Given the description of an element on the screen output the (x, y) to click on. 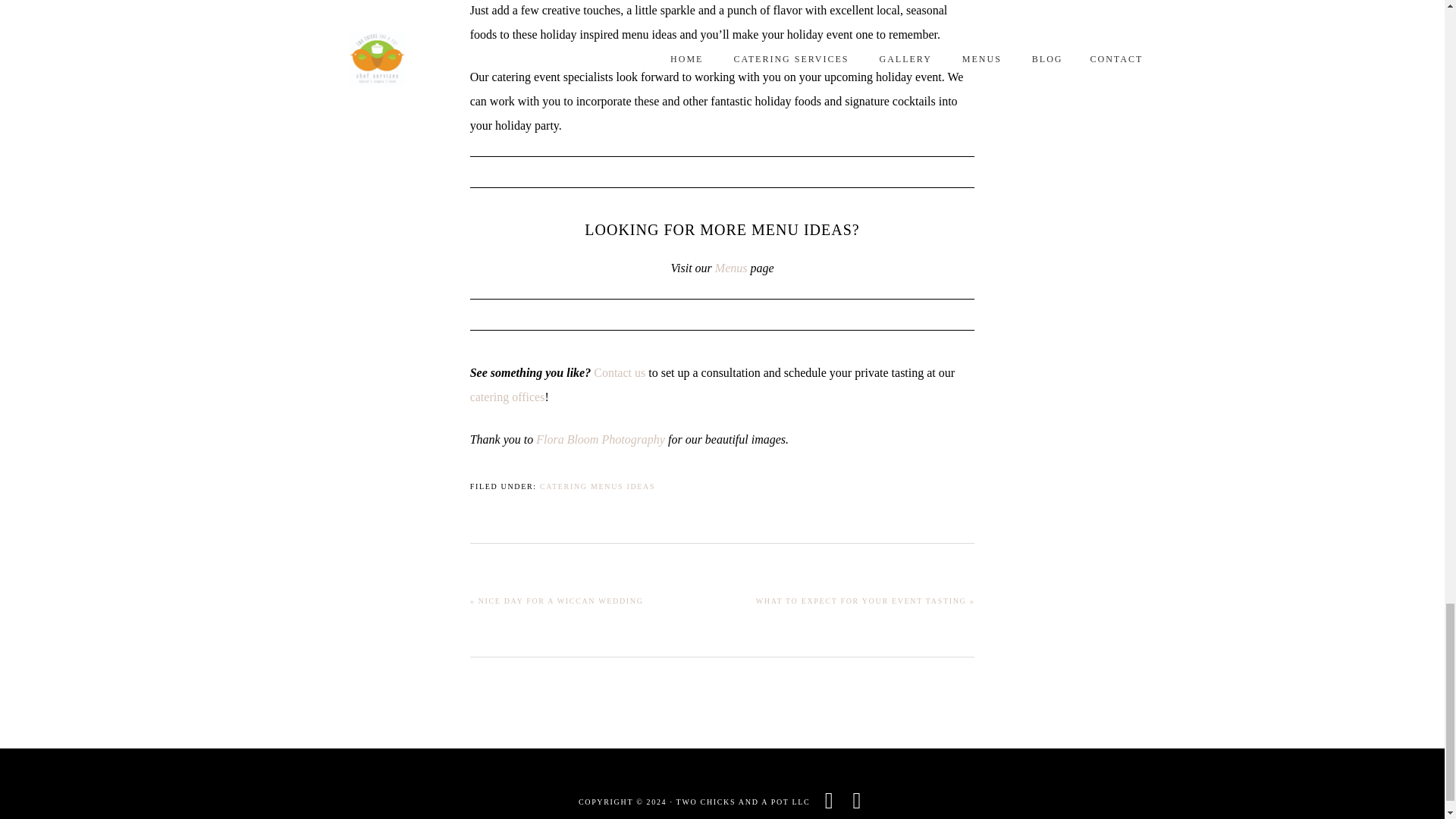
Contact us (619, 372)
Menus (731, 267)
catering offices (507, 396)
CATERING MENUS IDEAS (597, 486)
Flora Bloom Photography (600, 439)
